Given the description of an element on the screen output the (x, y) to click on. 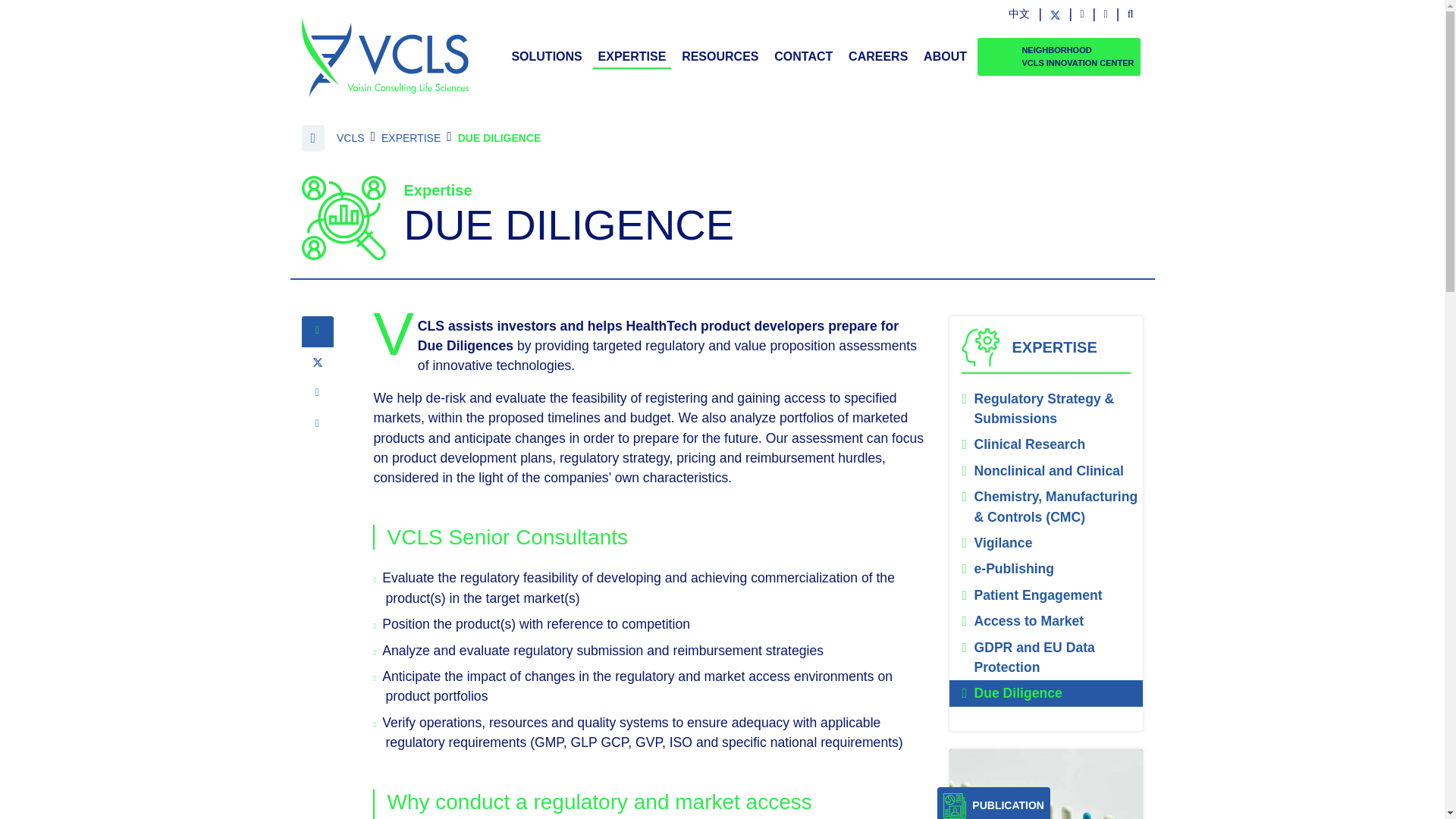
Voisin Consulting Life Sciences (384, 56)
SOLUTIONS (546, 56)
Solutions (546, 56)
